Given the description of an element on the screen output the (x, y) to click on. 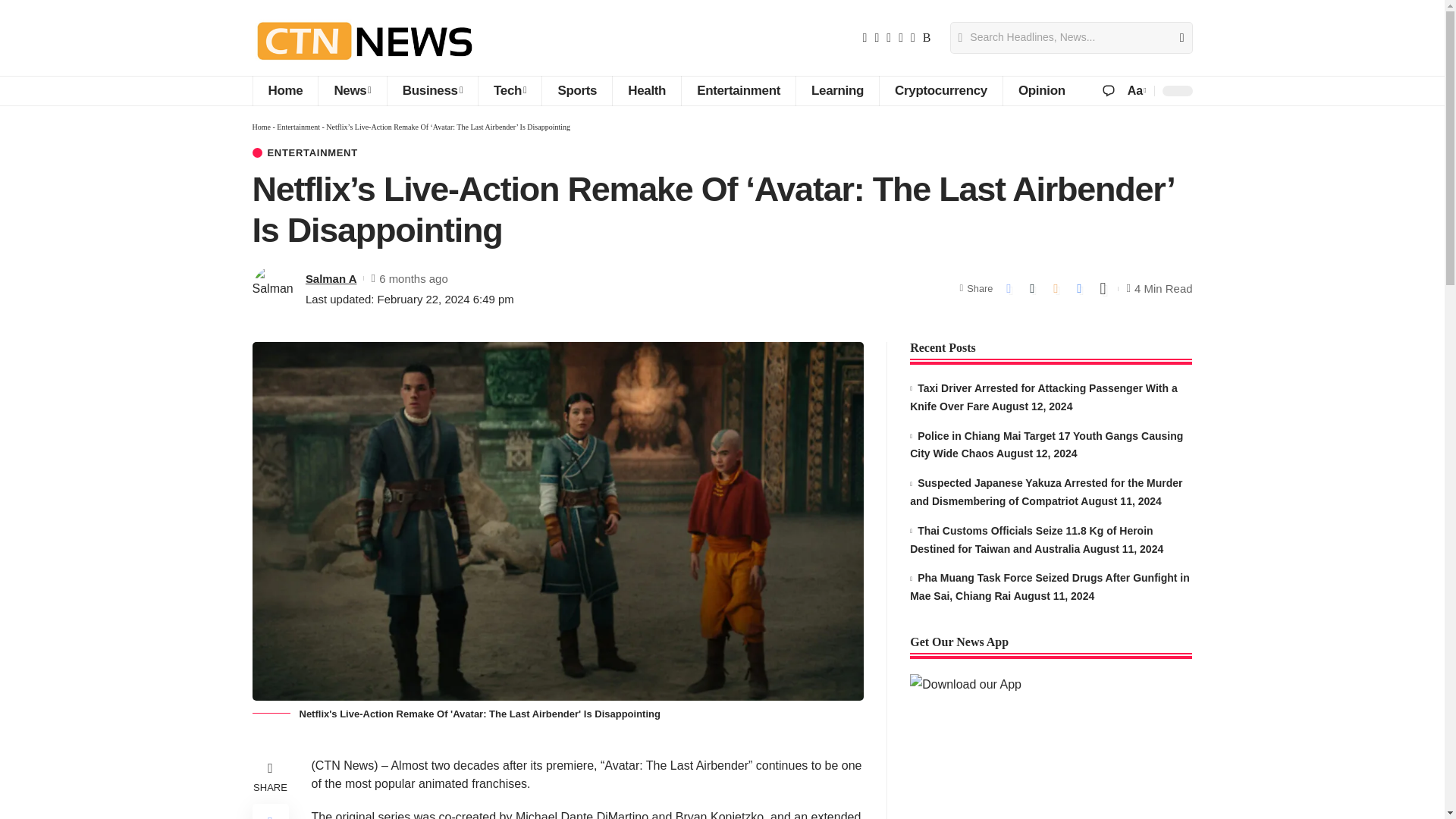
News (351, 91)
Cryptocurrency (941, 91)
Health (646, 91)
Entertainment (737, 91)
Learning (836, 91)
Tech (509, 91)
Search (1175, 37)
Home (284, 91)
Sports (576, 91)
Business (432, 91)
